Given the description of an element on the screen output the (x, y) to click on. 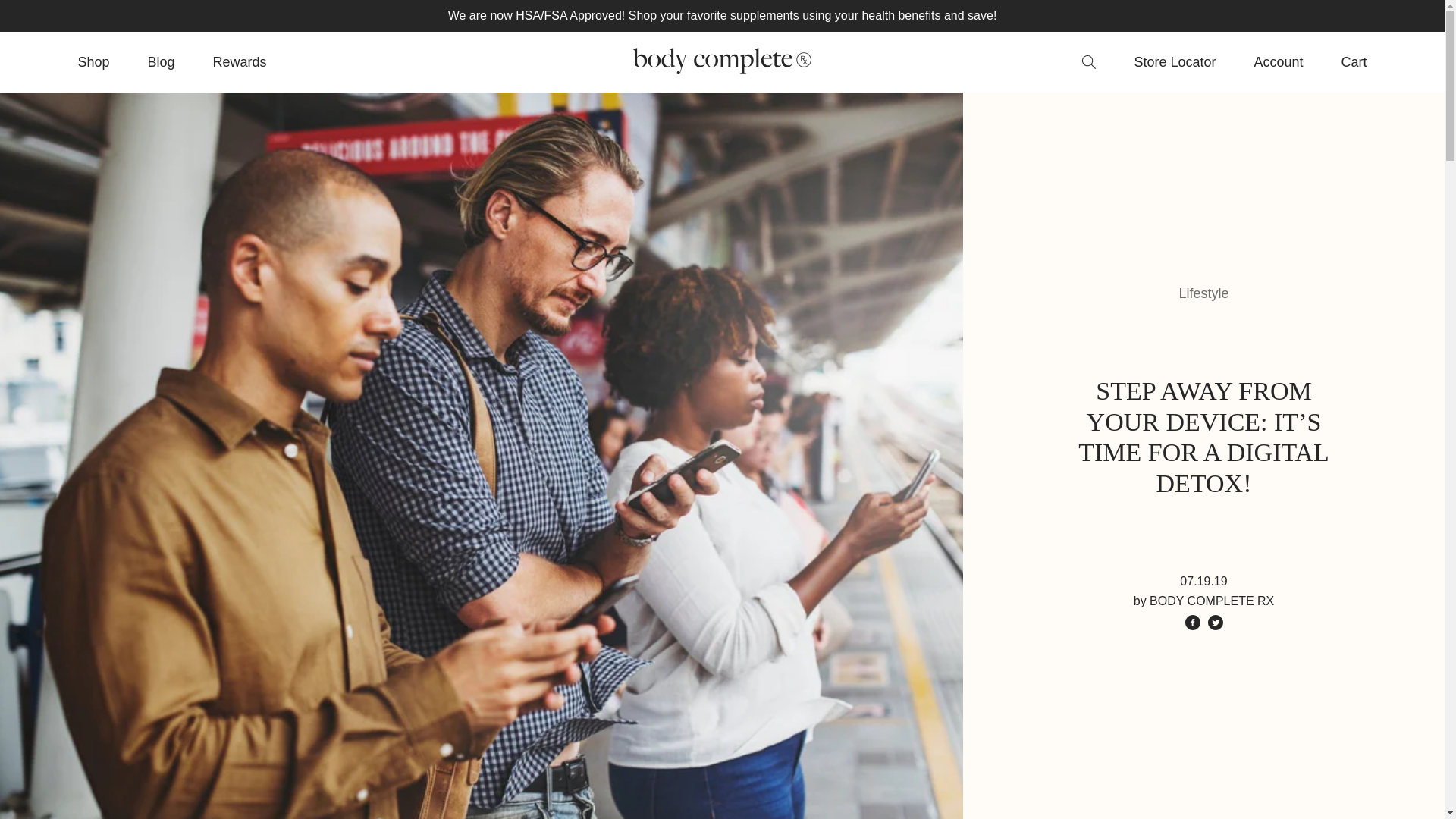
Cart (1353, 61)
Shop (93, 61)
Rewards (239, 61)
Account (1278, 61)
Store Locator (1174, 61)
Blog (161, 61)
